Given the description of an element on the screen output the (x, y) to click on. 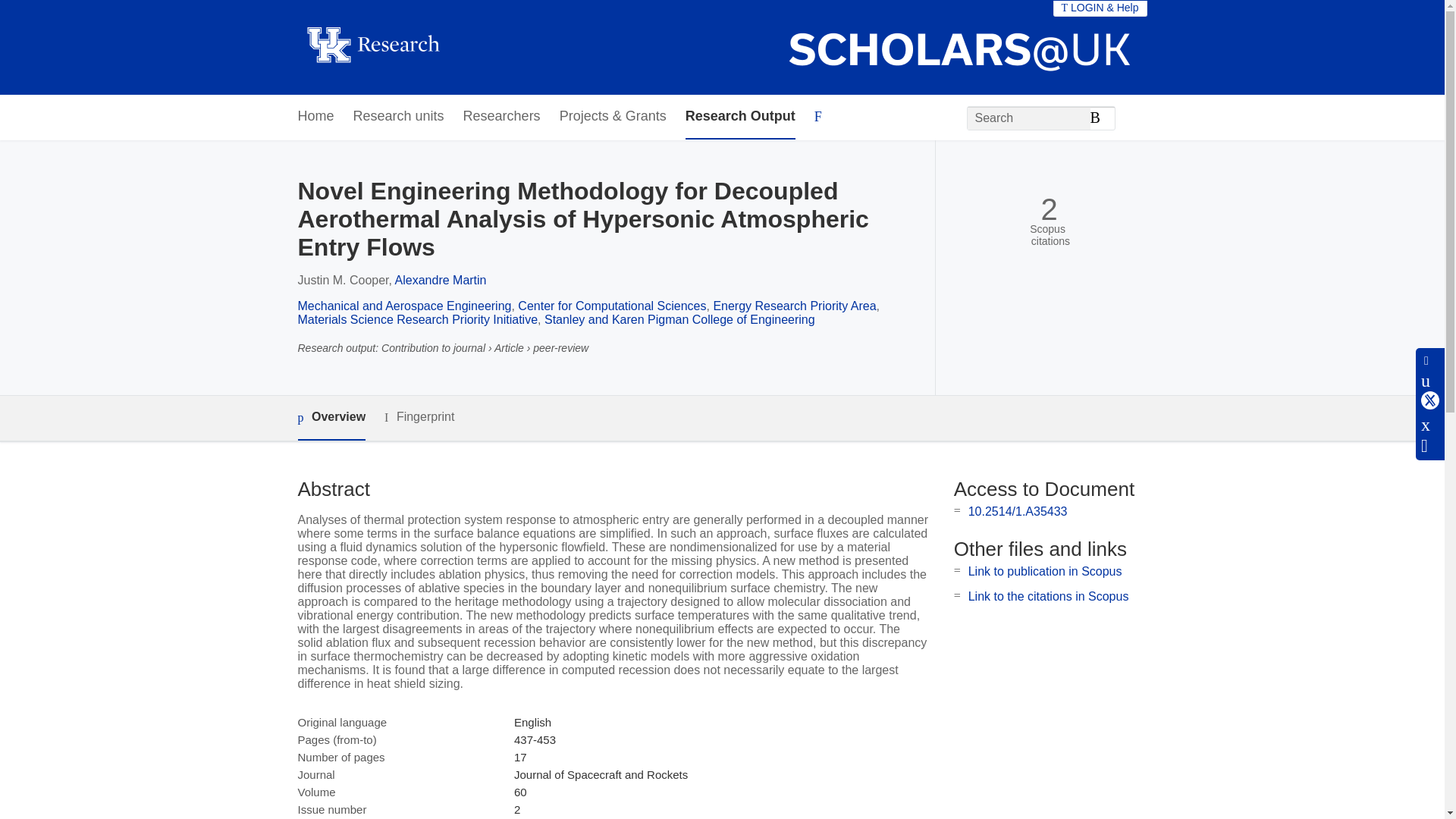
Center for Computational Sciences (612, 305)
Link to the citations in Scopus (1048, 595)
Alexandre Martin (440, 279)
Research units (398, 117)
Researchers (501, 117)
Stanley and Karen Pigman College of Engineering (679, 318)
Energy Research Priority Area (794, 305)
University of Kentucky Home (372, 47)
Mechanical and Aerospace Engineering (404, 305)
Materials Science Research Priority Initiative (417, 318)
Overview (331, 417)
Research Output (739, 117)
Link to publication in Scopus (1045, 571)
Fingerprint (419, 416)
